Given the description of an element on the screen output the (x, y) to click on. 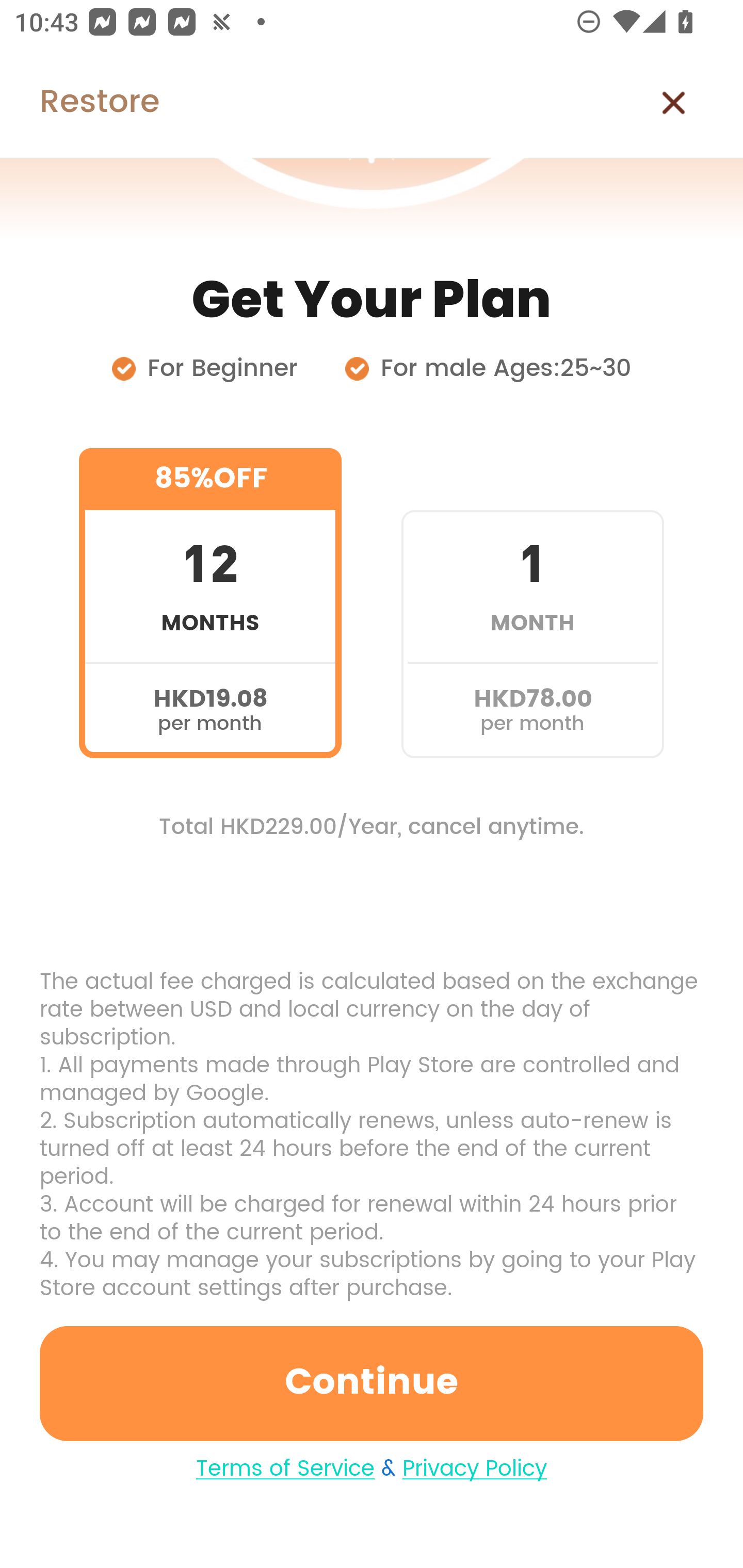
Restore (79, 102)
85%OFF 12 MONTHS per month HKD19.08 (209, 603)
1 MONTH per month HKD78.00 (532, 603)
Continue (371, 1383)
